Given the description of an element on the screen output the (x, y) to click on. 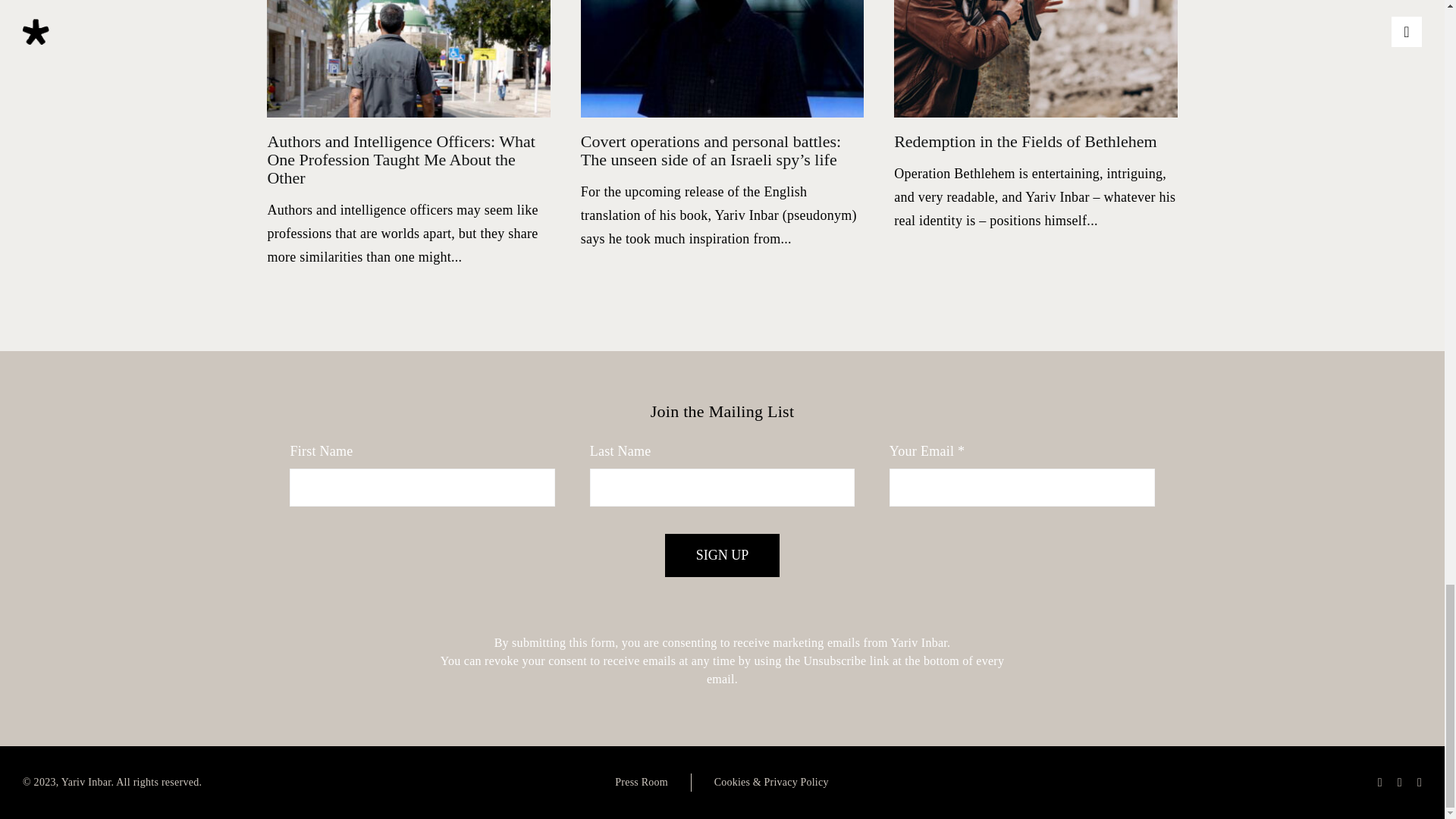
Instagram (1419, 782)
Facebook (1379, 782)
X (1399, 782)
Press Room (641, 782)
SIGN UP (722, 555)
